Given the description of an element on the screen output the (x, y) to click on. 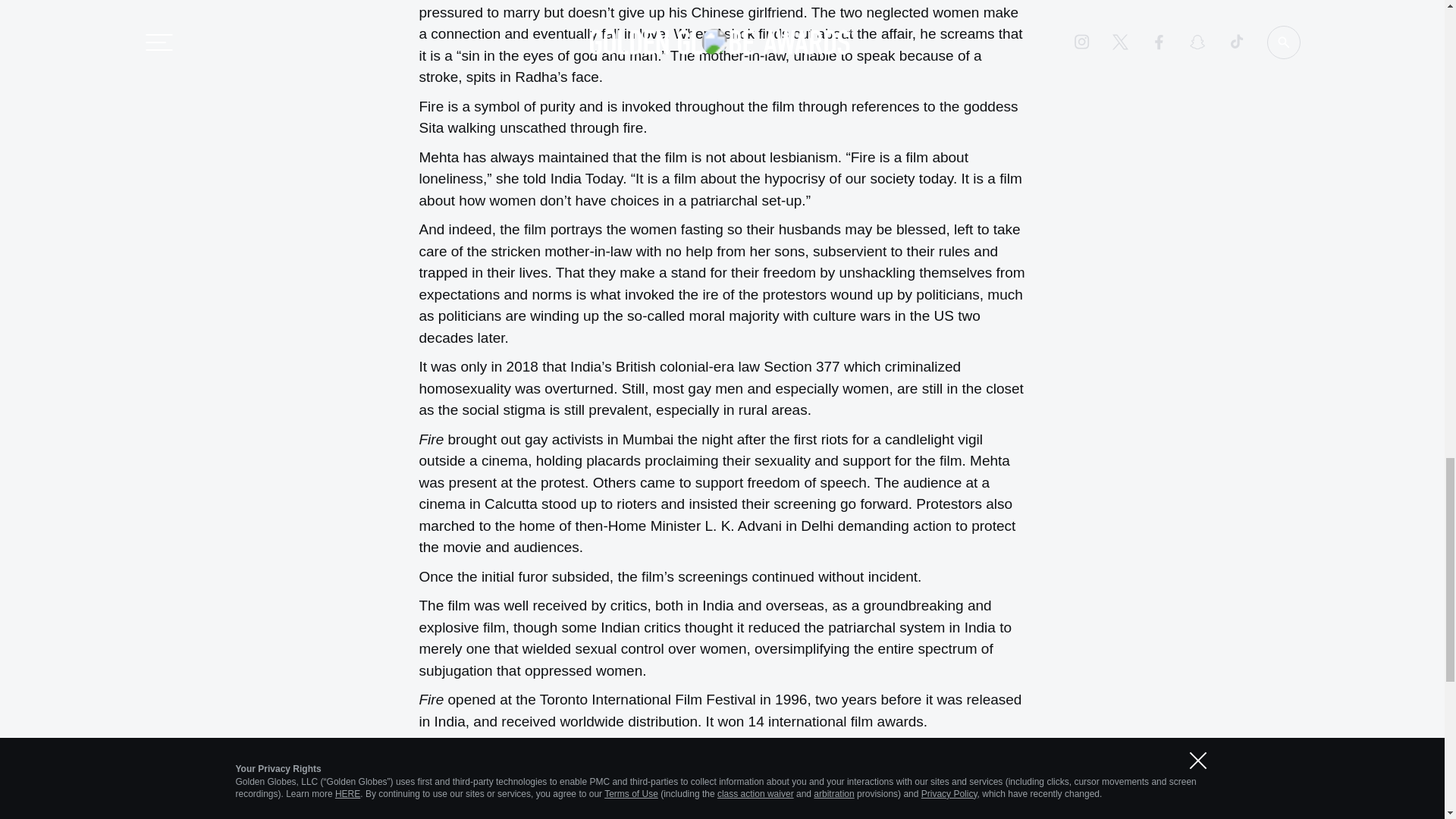
NEXT (1000, 810)
PREV (920, 810)
